Given the description of an element on the screen output the (x, y) to click on. 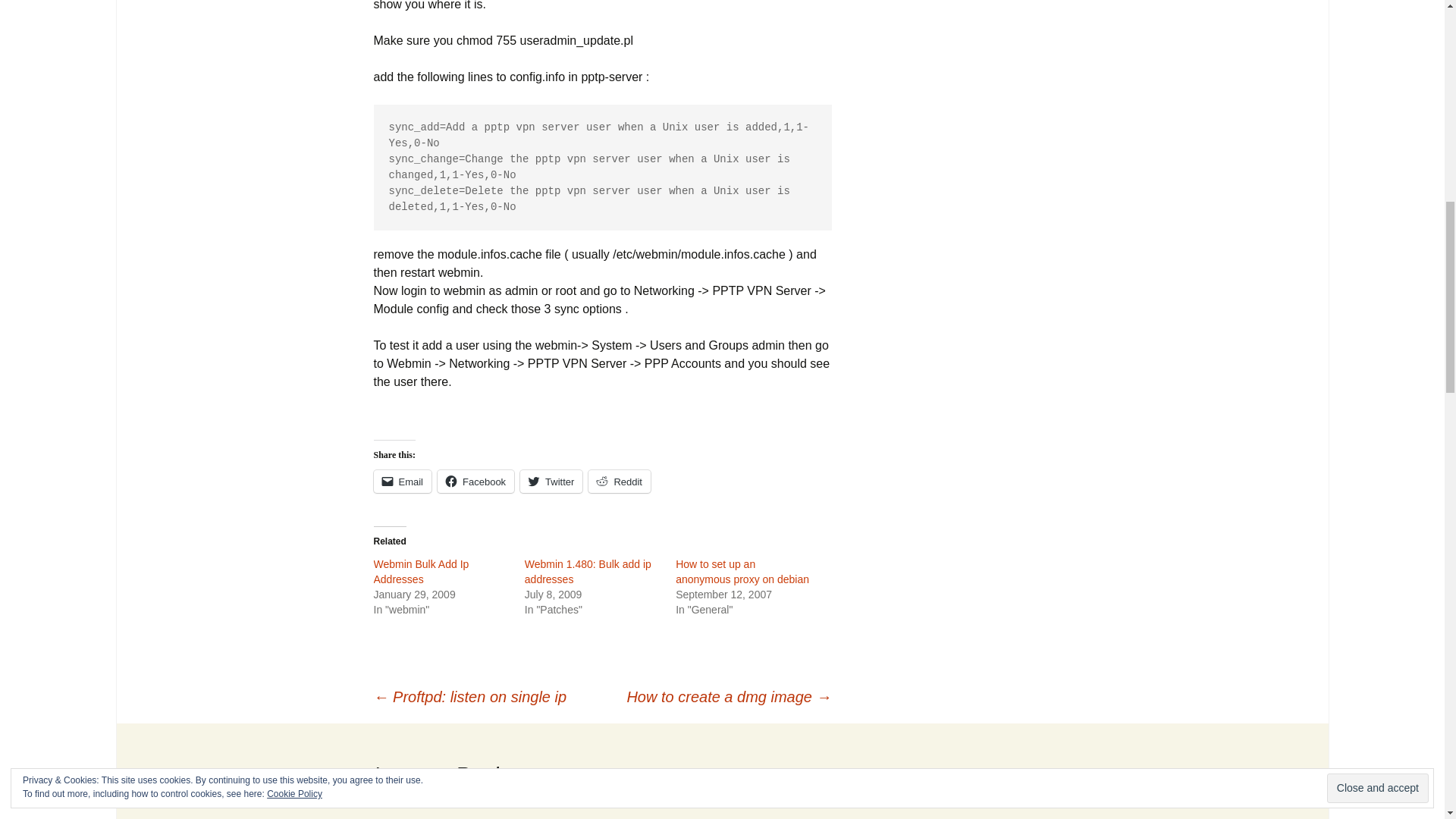
Click to share on Facebook (475, 481)
Webmin Bulk Add Ip Addresses (420, 571)
Webmin 1.480: Bulk add ip addresses (587, 571)
How to set up an anonymous proxy on debian (742, 571)
Facebook (475, 481)
Twitter (550, 481)
Email (401, 481)
Comment Form (601, 811)
Webmin Bulk Add Ip Addresses (420, 571)
Reddit (619, 481)
Click to share on Reddit (619, 481)
How to set up an anonymous proxy on debian (742, 571)
Click to email a link to a friend (401, 481)
Click to share on Twitter (550, 481)
Webmin 1.480: Bulk add ip addresses (587, 571)
